Given the description of an element on the screen output the (x, y) to click on. 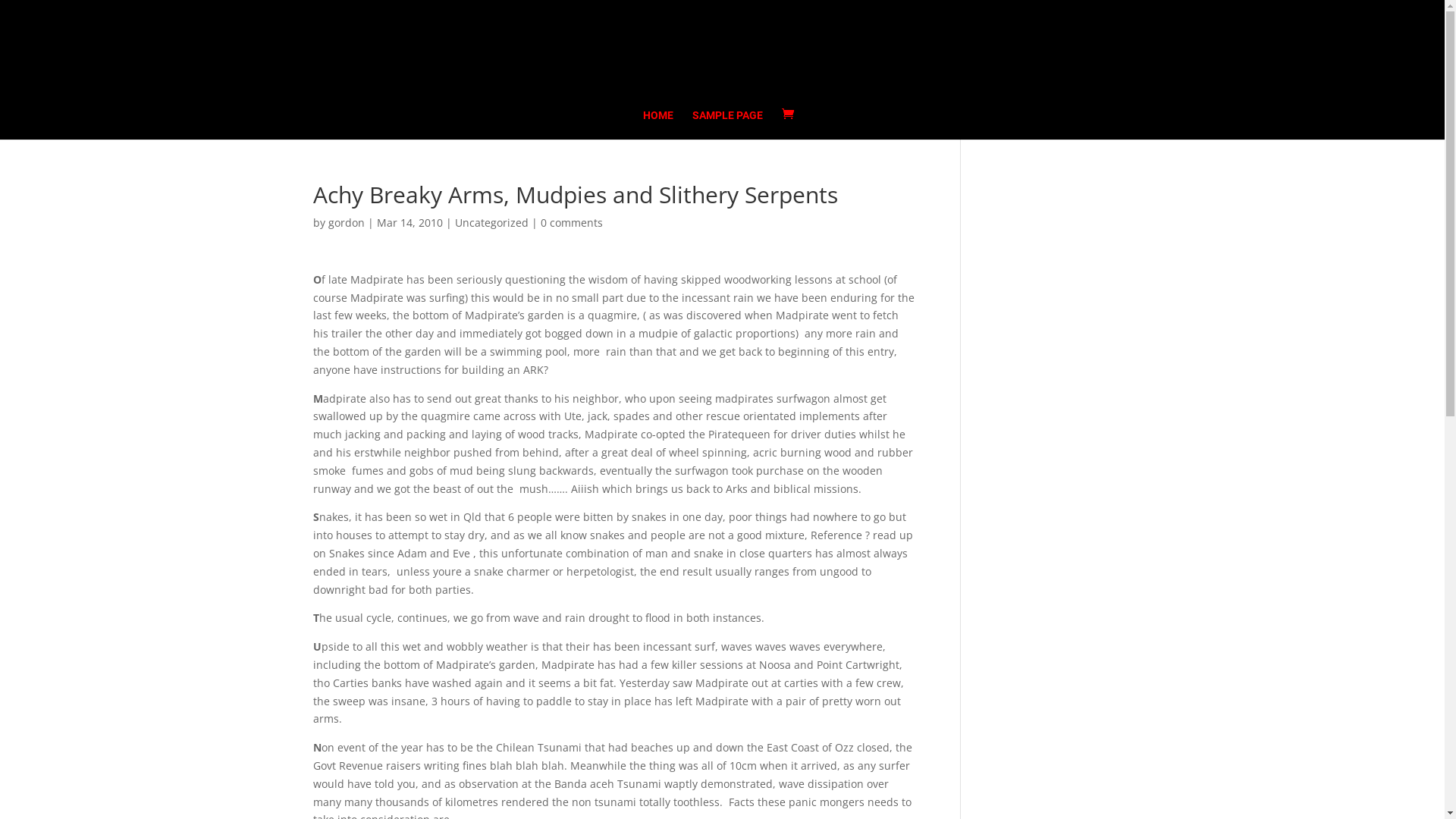
gordon Element type: text (345, 222)
SAMPLE PAGE Element type: text (727, 124)
0 comments Element type: text (570, 222)
Uncategorized Element type: text (491, 222)
HOME Element type: text (658, 124)
